Given the description of an element on the screen output the (x, y) to click on. 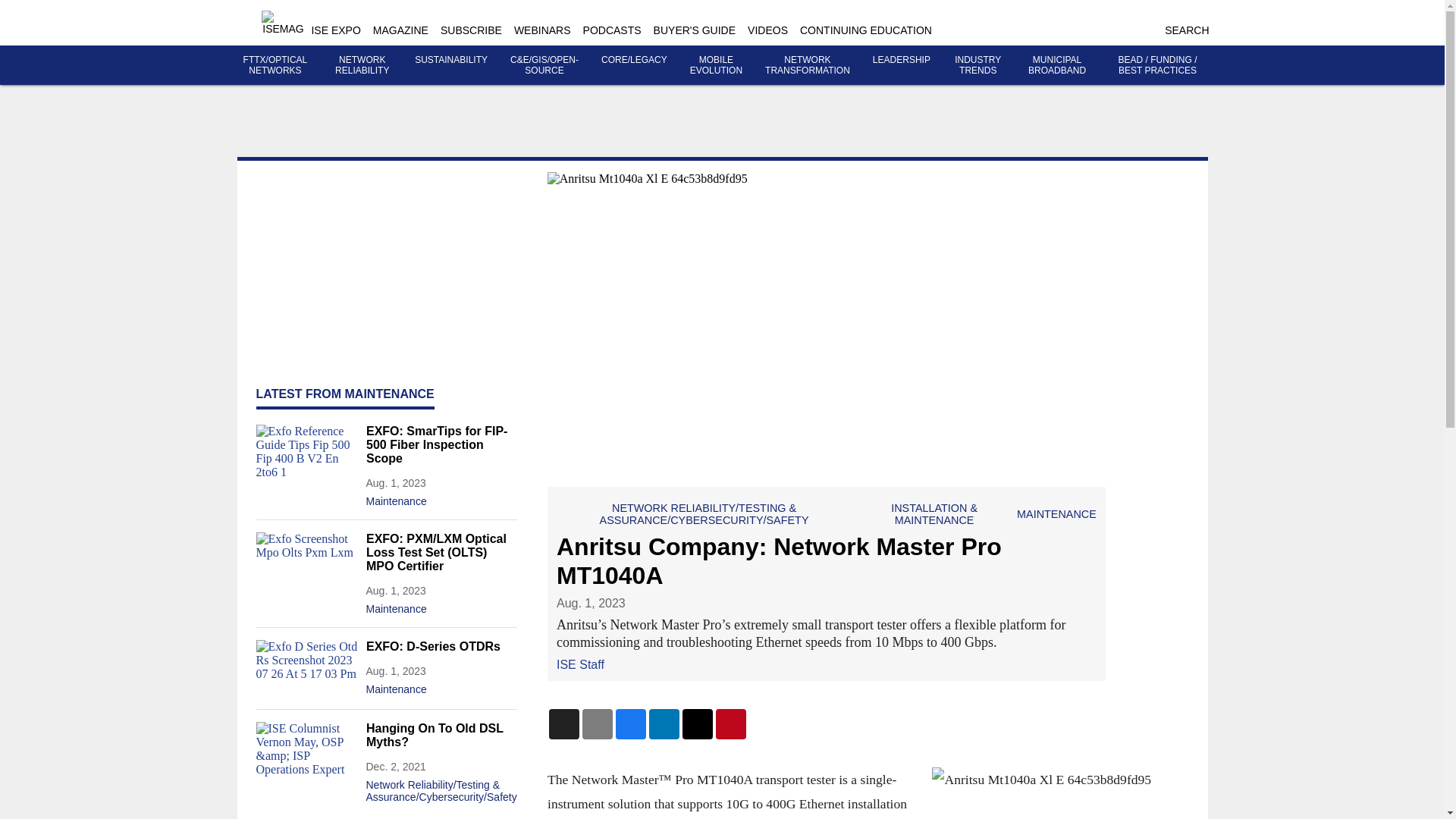
PODCASTS (612, 30)
EXFO: SmarTips for FIP-500 Fiber Inspection Scope (440, 445)
Hanging On To Old DSL Myths? (440, 735)
ISE EXPO (335, 30)
MAGAZINE (400, 30)
NETWORK TRANSFORMATION (807, 65)
BUYER'S GUIDE (694, 30)
INDUSTRY TRENDS (978, 65)
CONTINUING EDUCATION (865, 30)
SUBSCRIBE (471, 30)
Maintenance (440, 686)
MOBILE EVOLUTION (716, 65)
VIDEOS (767, 30)
Exfo Screenshot Mpo Olts Pxm Lxm (307, 560)
